Given the description of an element on the screen output the (x, y) to click on. 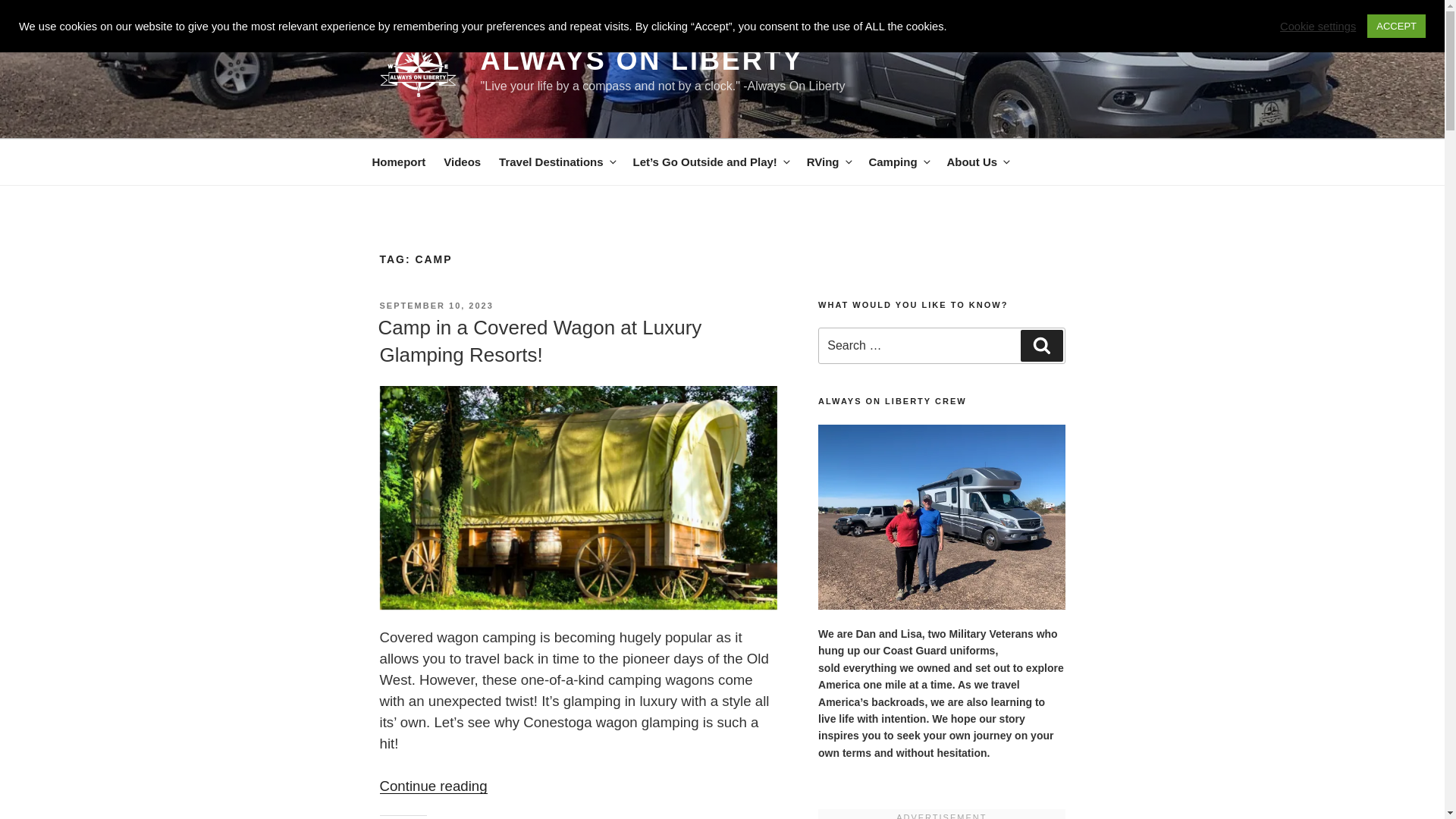
Travel Destinations (557, 161)
Videos (461, 161)
ALWAYS ON LIBERTY (641, 60)
Homeport (398, 161)
Camping (898, 161)
RVing (829, 161)
